Given the description of an element on the screen output the (x, y) to click on. 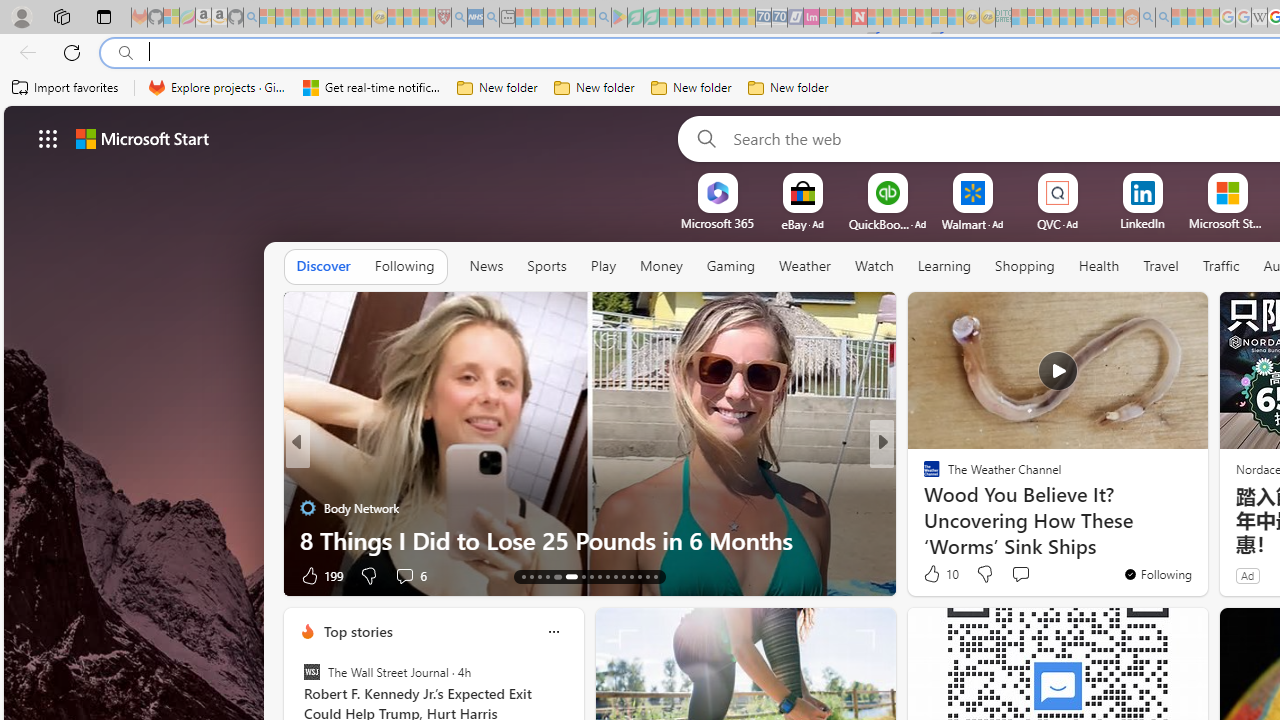
8 Things I Did to Lose 25 Pounds in 6 Months (589, 539)
The Wall Street Journal (311, 672)
3k Like (933, 574)
Health (1099, 265)
google - Search - Sleeping (603, 17)
